Given the description of an element on the screen output the (x, y) to click on. 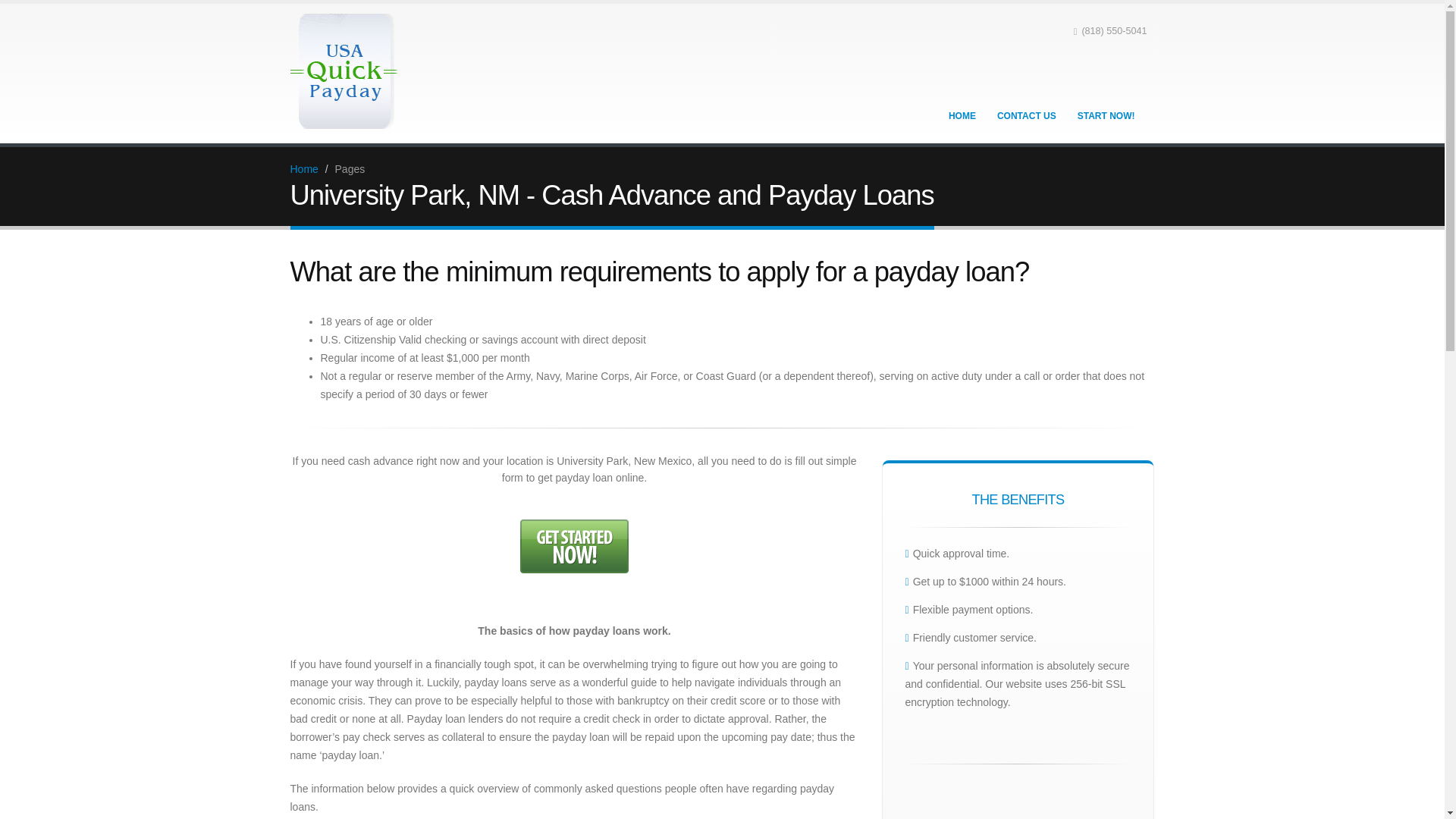
HOME (962, 115)
CONTACT US (1026, 115)
START NOW! (1105, 115)
Home (303, 168)
